Given the description of an element on the screen output the (x, y) to click on. 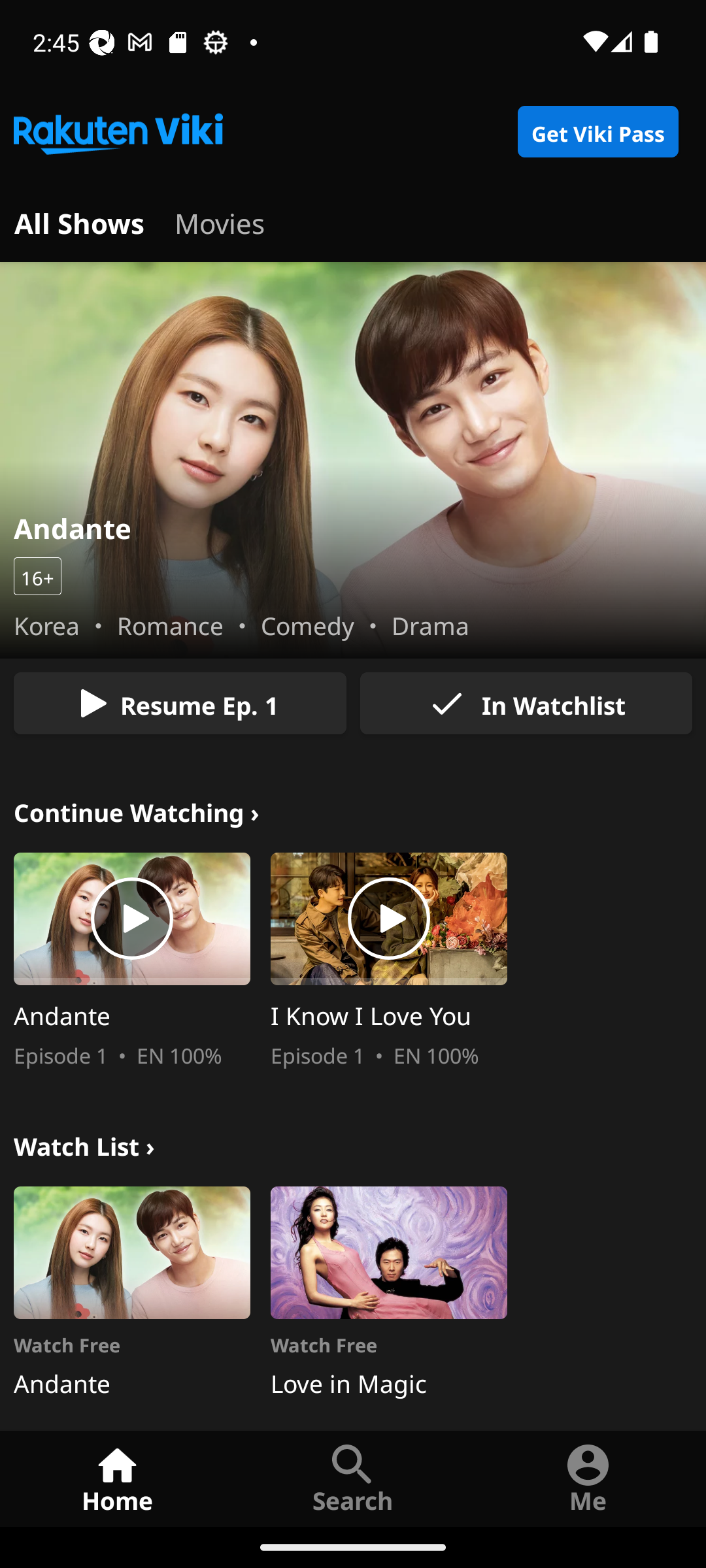
Get Viki Pass (597, 131)
home_tab_movies Movies (219, 220)
Resume Ep. 1 home_billboard_play_button (179, 702)
In Watchlist home_billboard_in_watchlist_button (526, 702)
Continue Watching › continue_watching (136, 809)
Watch List › watch_list (84, 1143)
Search (352, 1478)
Me (588, 1478)
